Given the description of an element on the screen output the (x, y) to click on. 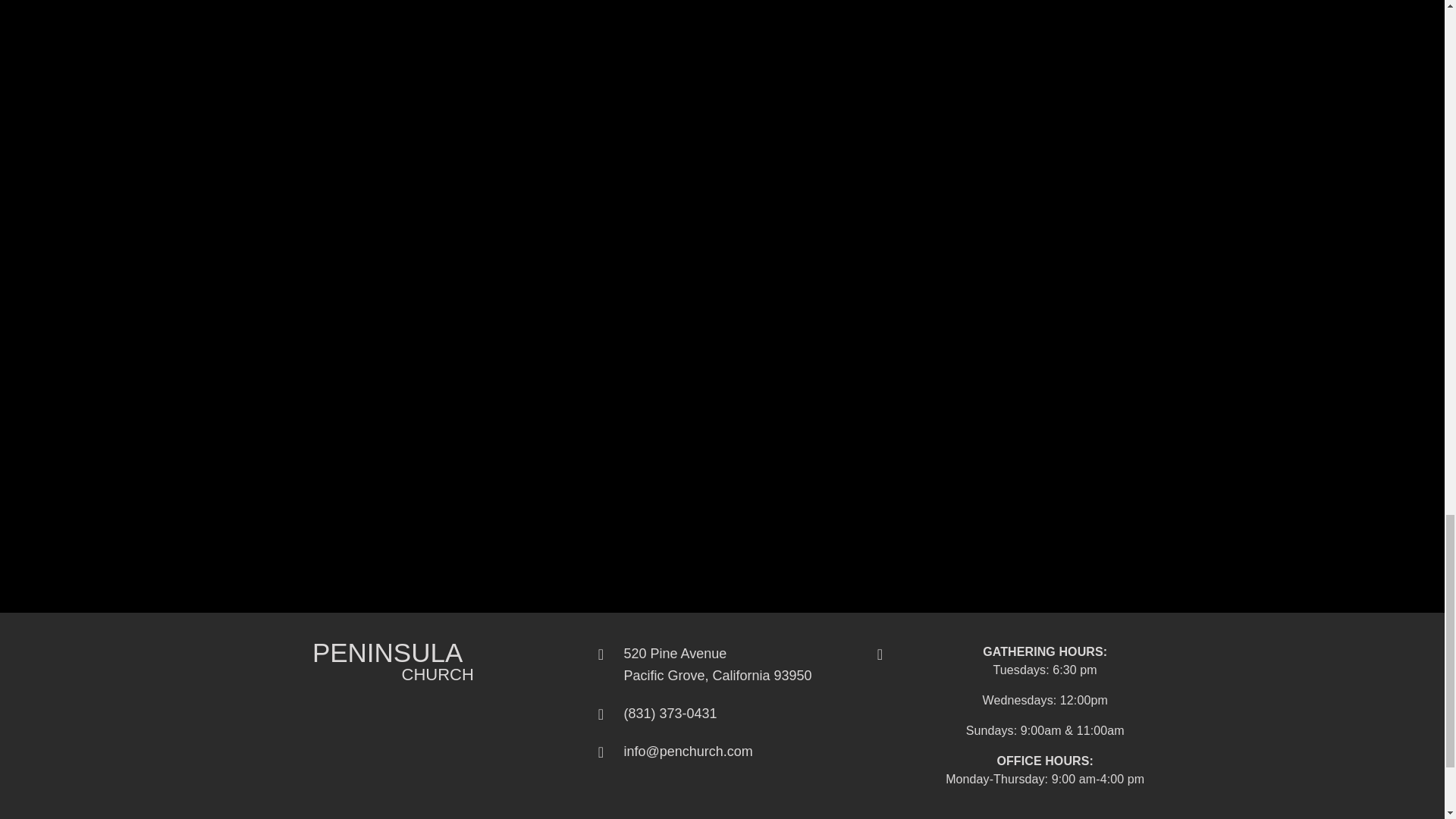
Untitled design-31 (716, 664)
